Given the description of an element on the screen output the (x, y) to click on. 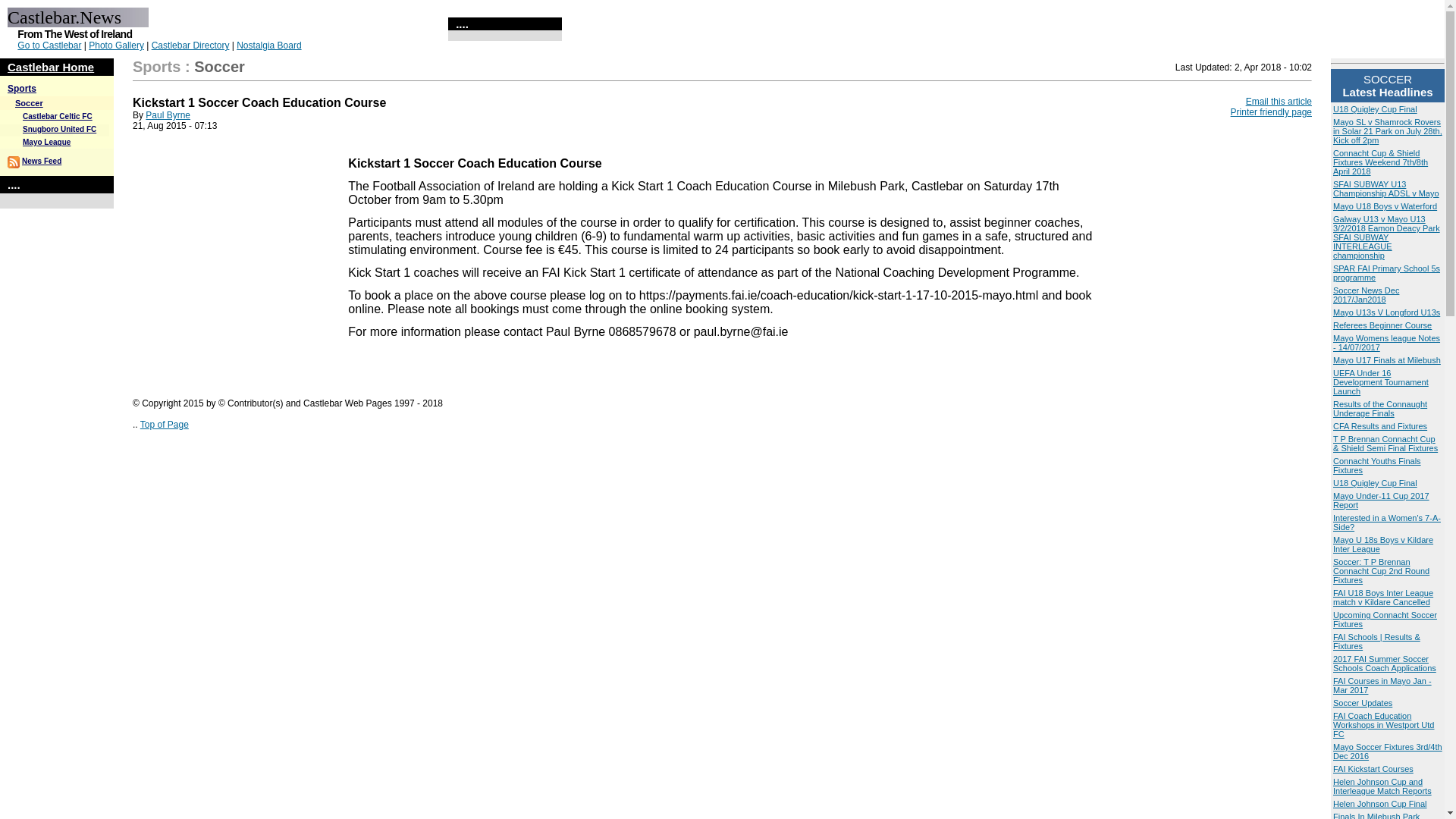
Go to Castlebar (49, 45)
Top of Page (164, 424)
Snugboro United FC (59, 129)
U18 Quigley Cup Final (1374, 482)
CFA Results and Fixtures (1379, 425)
Photo Gallery (116, 45)
Sports (21, 88)
Mayo U 18s Boys v Kildare Inter League (1382, 544)
Mayo League (46, 142)
SFAI SUBWAY U13 Championship ADSL v Mayo (1386, 188)
News Feed (41, 161)
Mayo Under-11 Cup 2017 Report (1381, 500)
Soccer (28, 102)
Mayo U17 Finals at Milebush (1387, 359)
Mayo U18 Boys v Waterford (1385, 205)
